Given the description of an element on the screen output the (x, y) to click on. 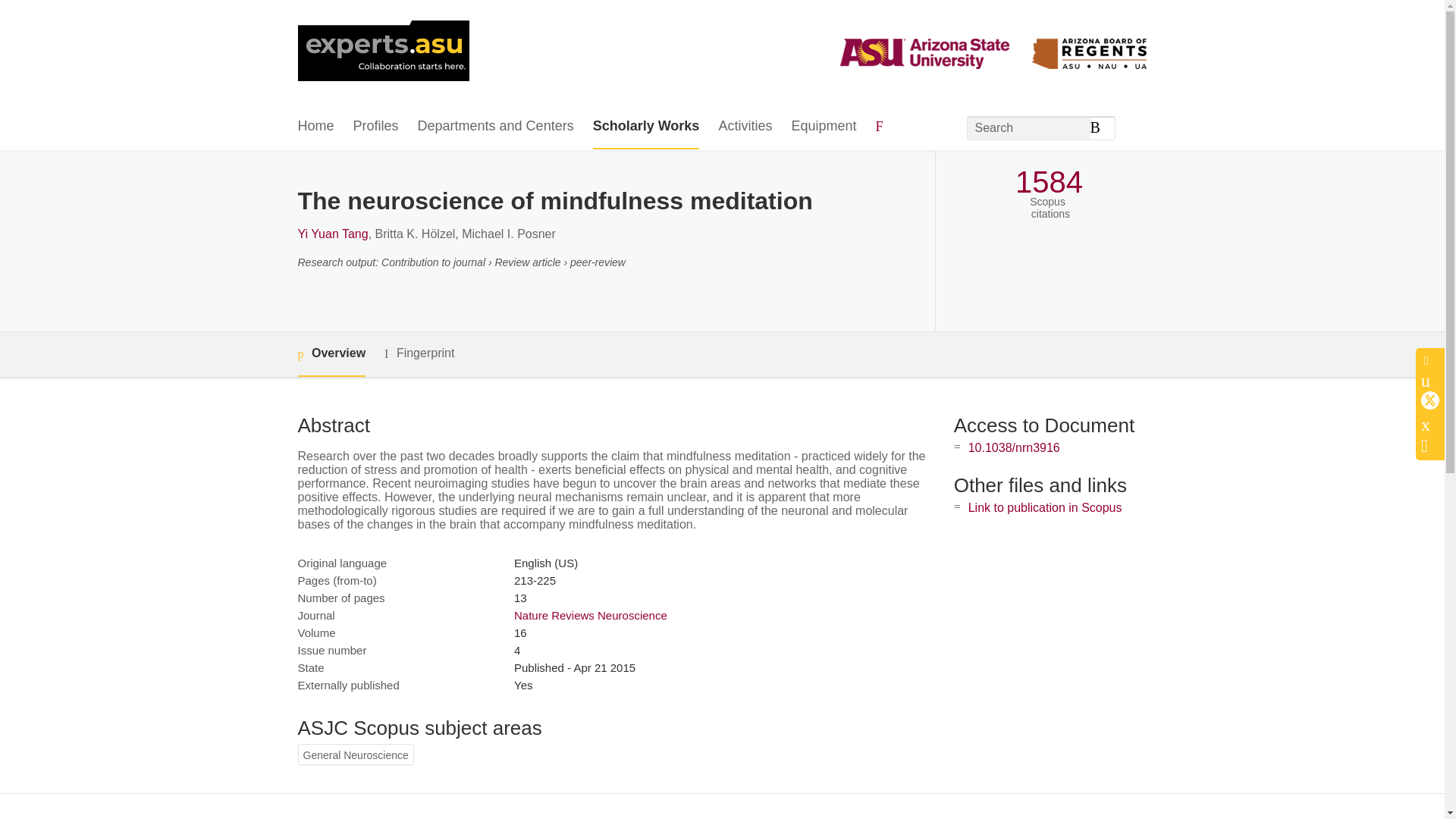
Profiles (375, 126)
Arizona State University Home (382, 52)
Fingerprint (419, 353)
1584 (1048, 181)
Equipment (823, 126)
Departments and Centers (495, 126)
Nature Reviews Neuroscience (589, 615)
Link to publication in Scopus (1045, 507)
Yi Yuan Tang (332, 233)
